Given the description of an element on the screen output the (x, y) to click on. 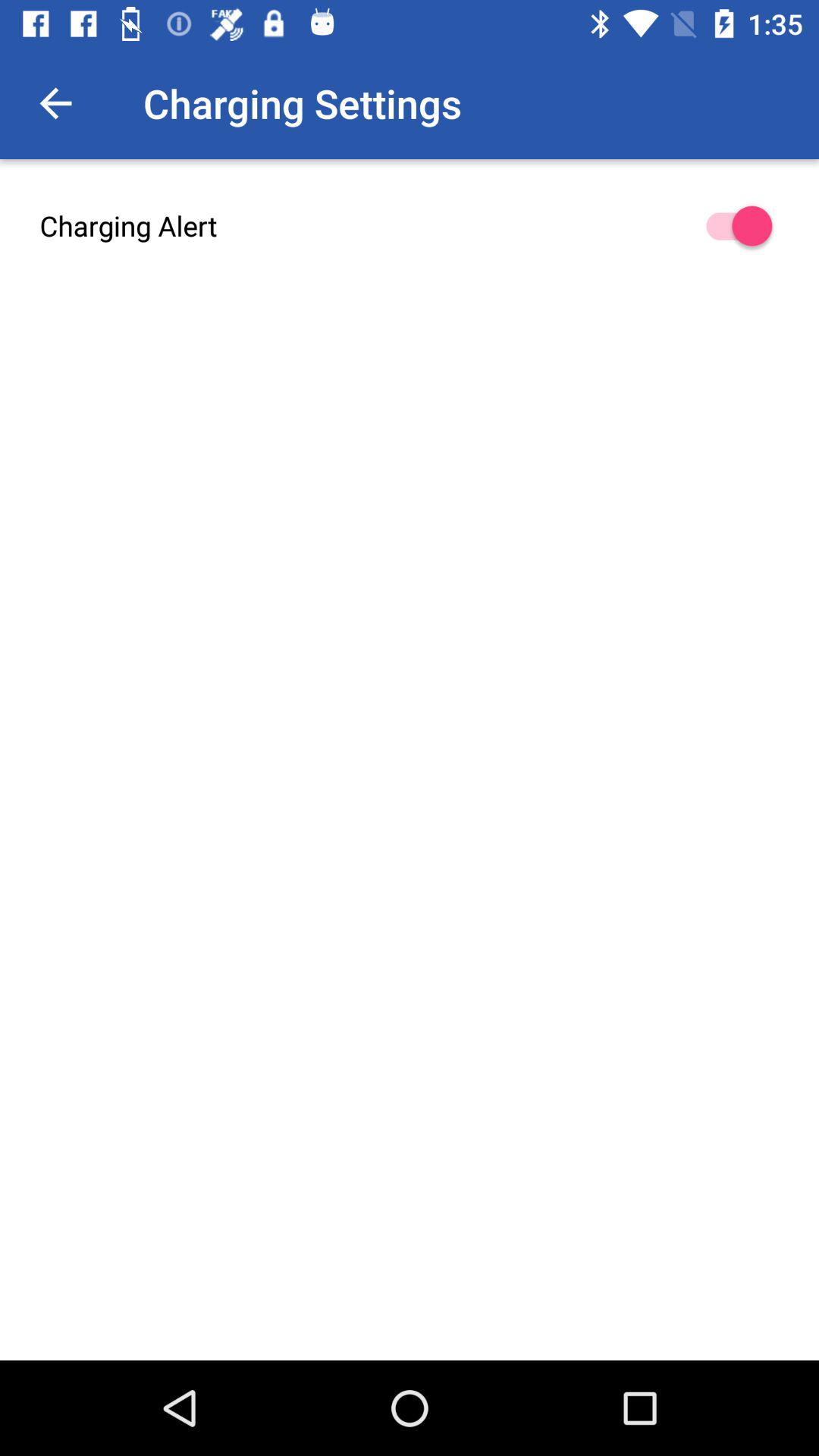
open item next to the charging settings icon (55, 103)
